Given the description of an element on the screen output the (x, y) to click on. 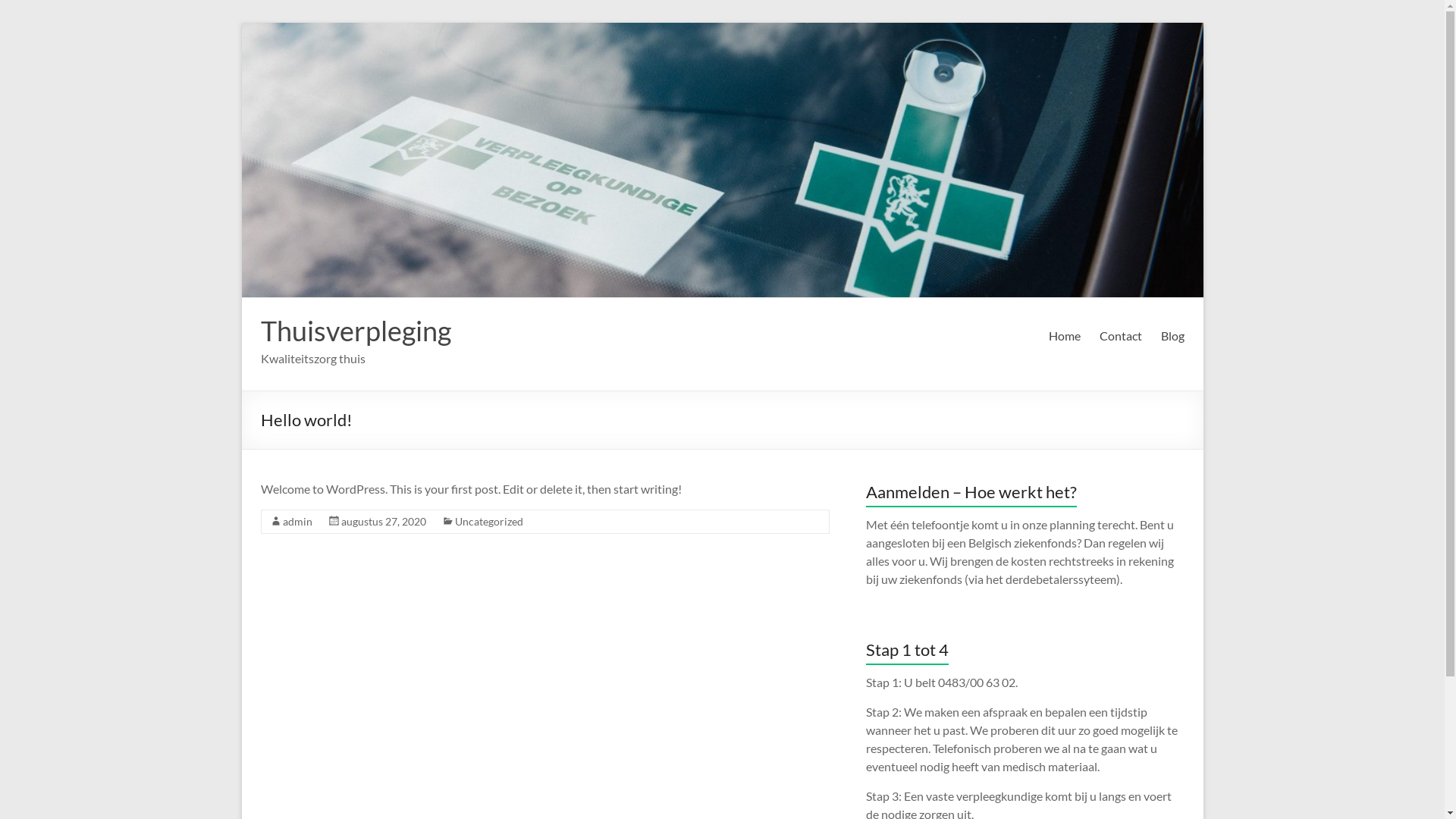
Blog Element type: text (1171, 335)
admin Element type: text (296, 520)
Home Element type: text (1063, 335)
Ga naar inhoud Element type: text (241, 21)
Contact Element type: text (1120, 335)
Uncategorized Element type: text (489, 520)
Thuisverpleging Element type: text (355, 330)
augustus 27, 2020 Element type: text (383, 520)
